Given the description of an element on the screen output the (x, y) to click on. 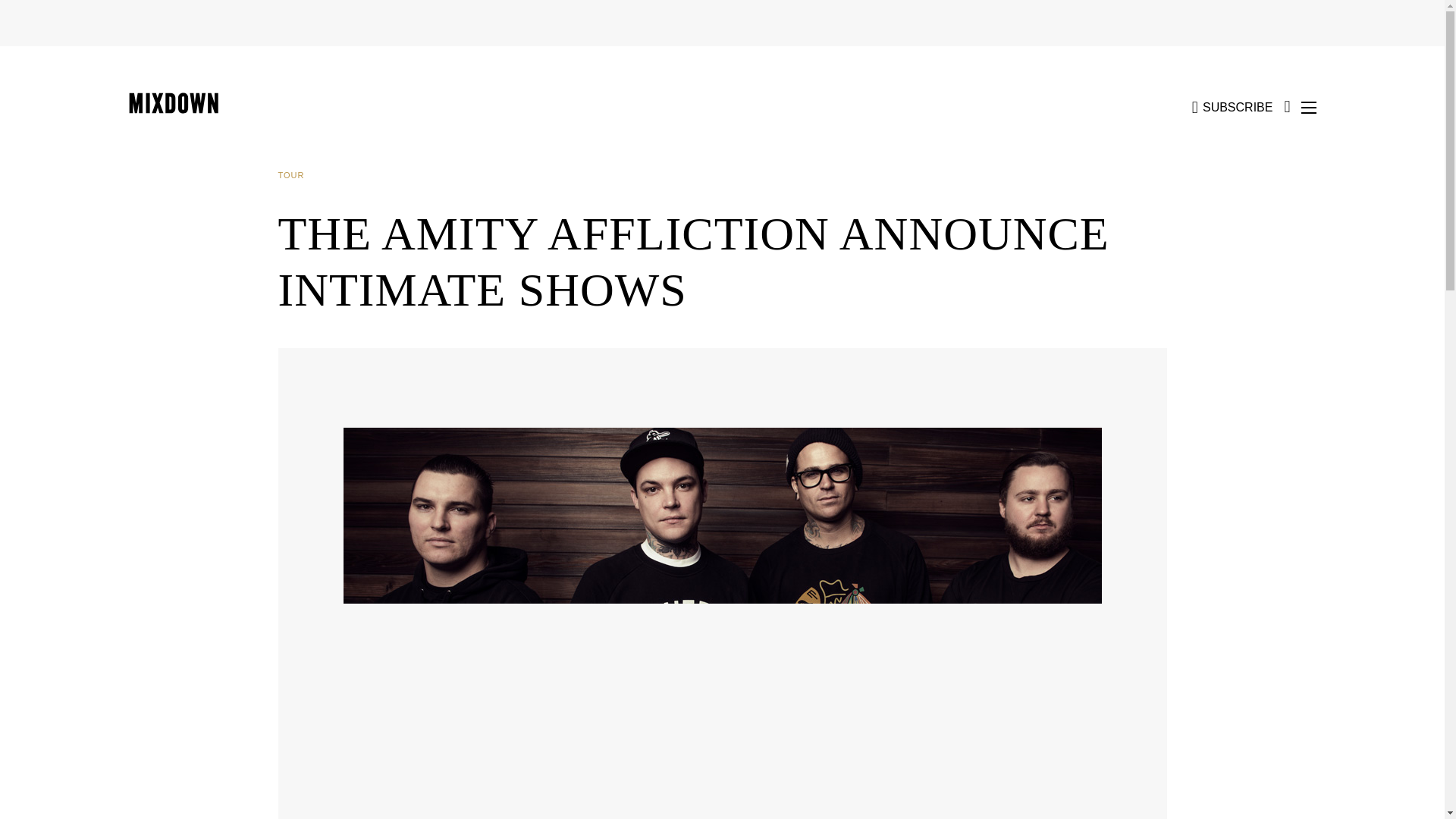
TOUR (296, 175)
